Given the description of an element on the screen output the (x, y) to click on. 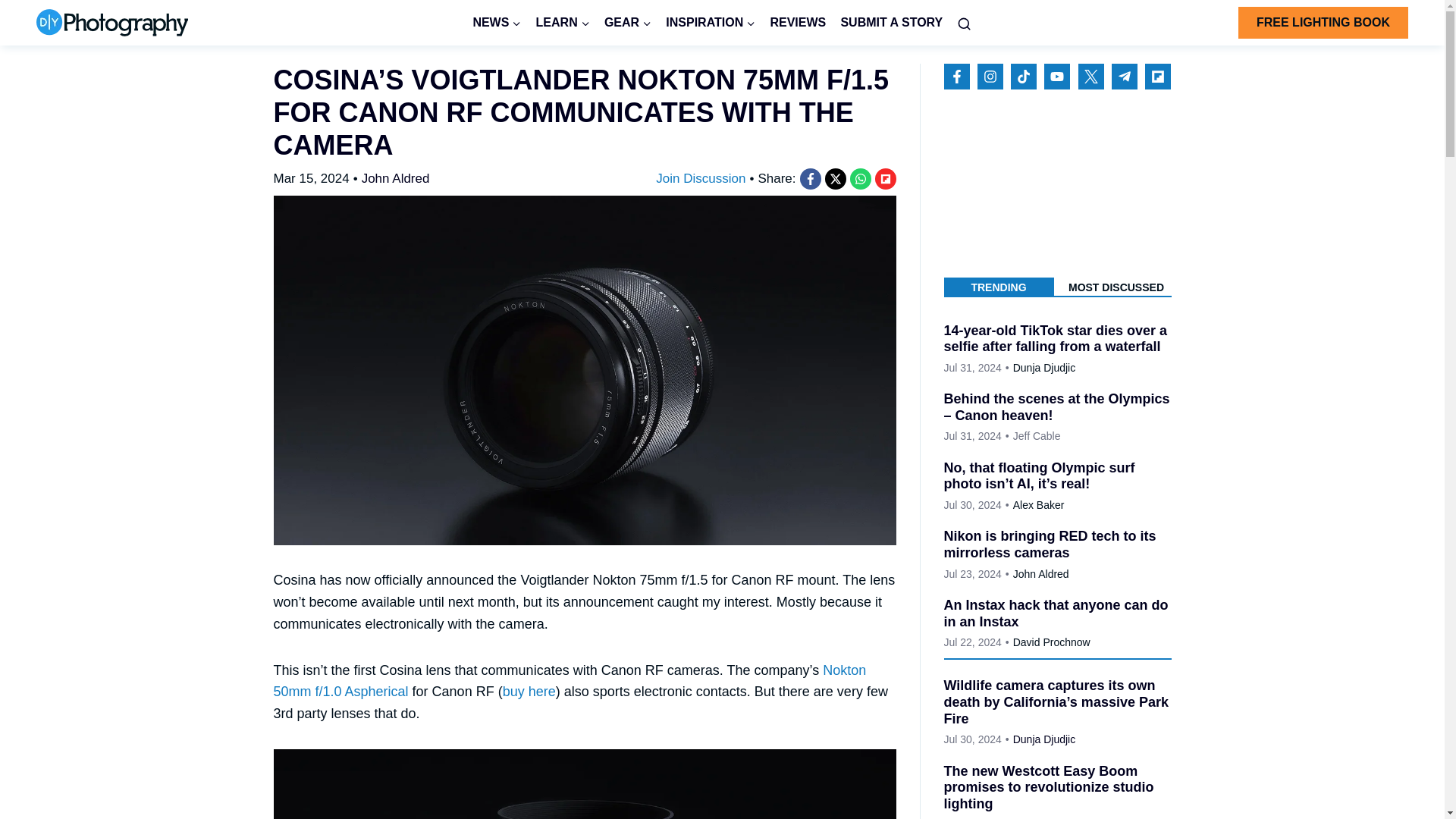
NEWS (496, 22)
